Given the description of an element on the screen output the (x, y) to click on. 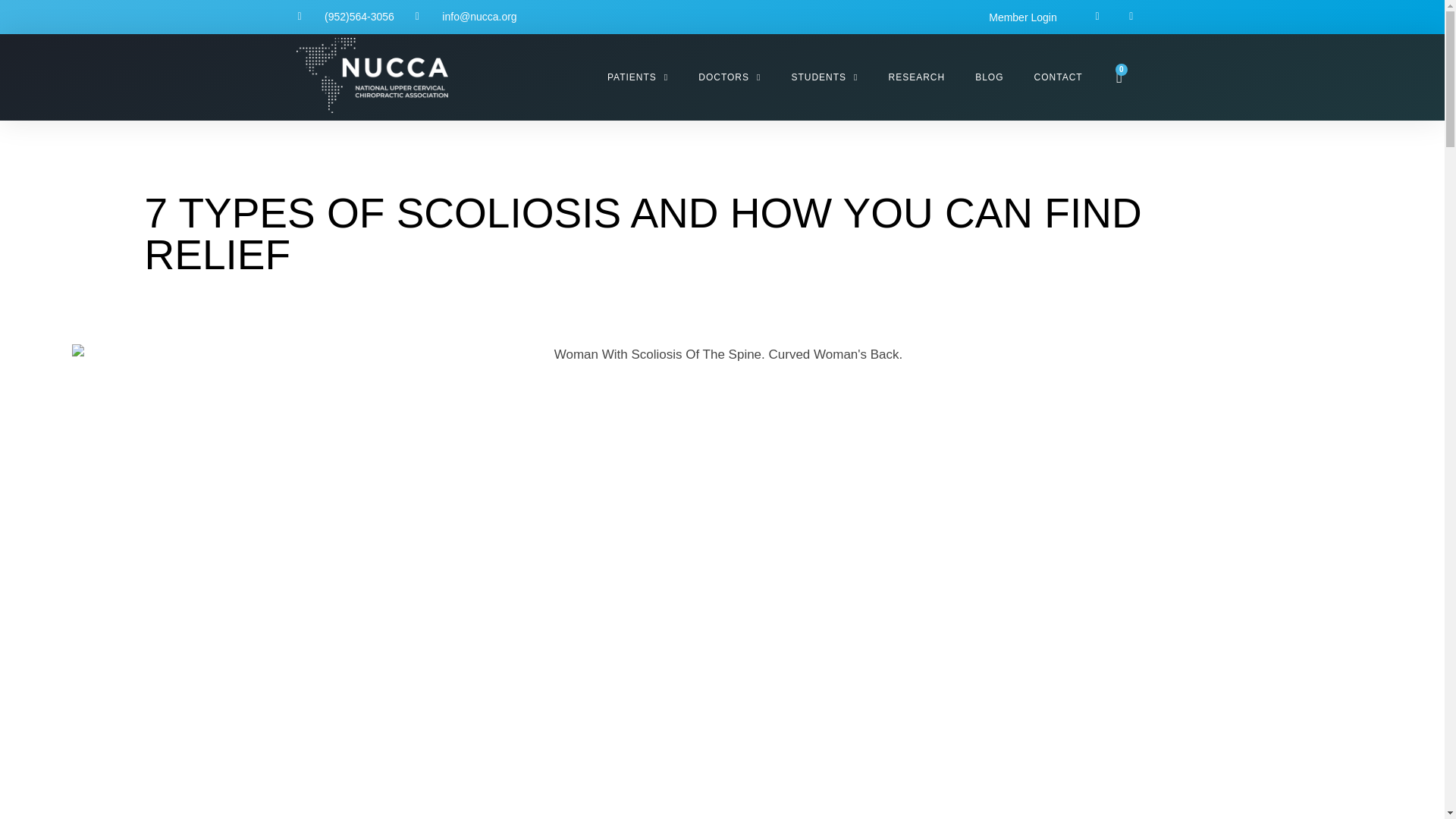
Member Login (1023, 17)
BLOG (988, 77)
CONTACT (1058, 77)
STUDENTS (824, 77)
RESEARCH (916, 77)
PATIENTS (637, 77)
DOCTORS (729, 77)
